Given the description of an element on the screen output the (x, y) to click on. 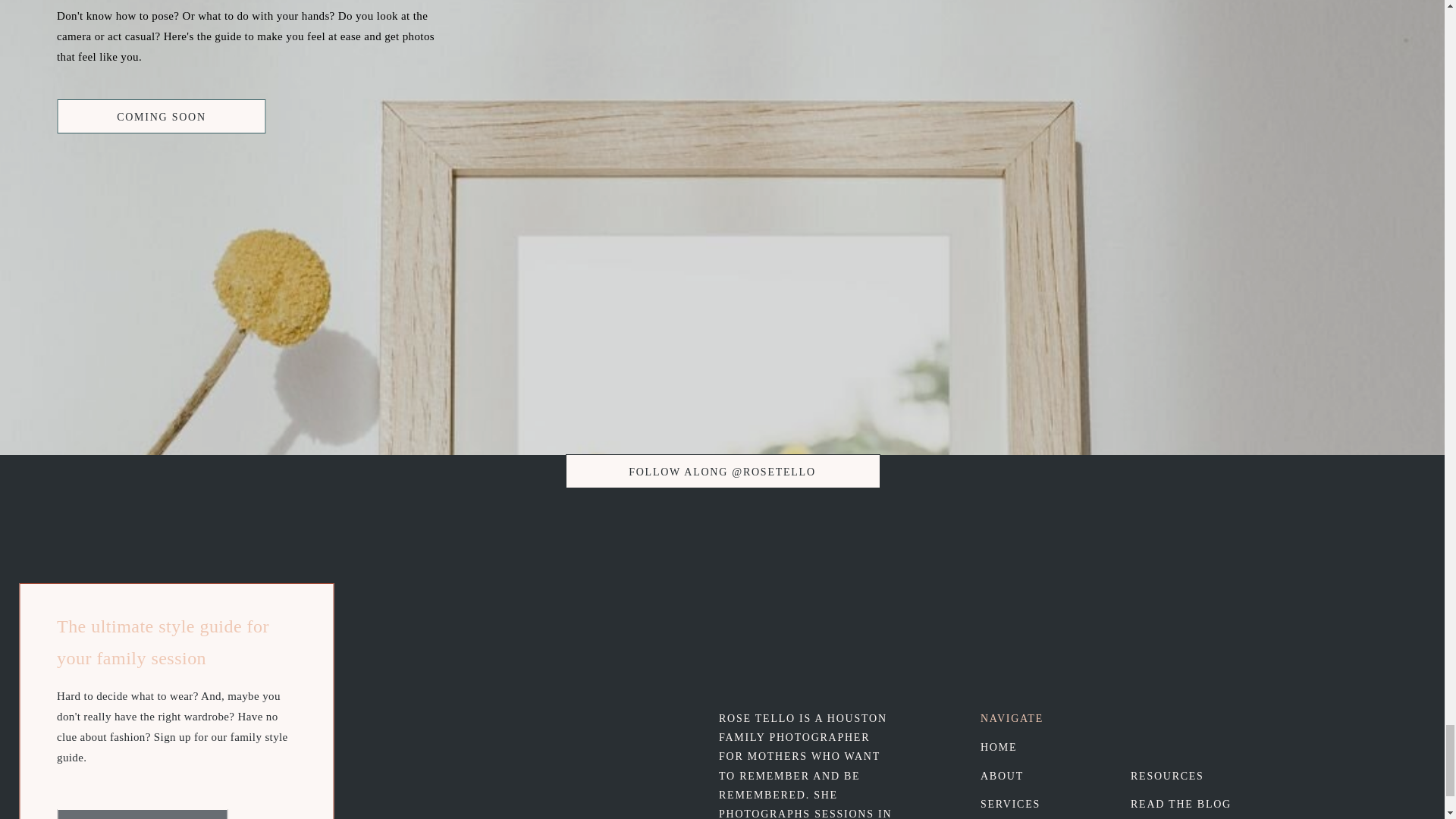
COMING SOON (161, 116)
